Given the description of an element on the screen output the (x, y) to click on. 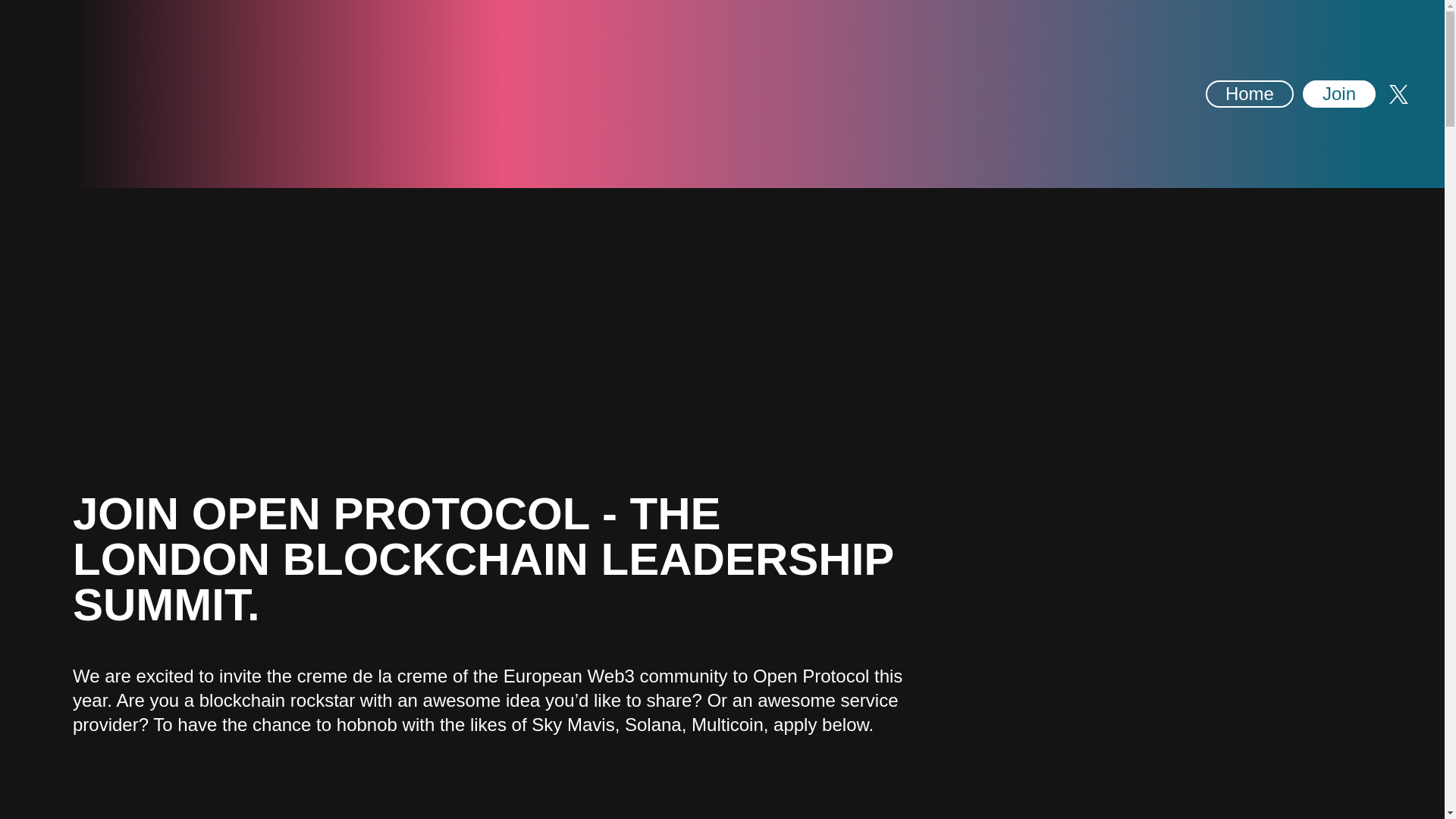
Join (1339, 93)
Home (1249, 93)
